Given the description of an element on the screen output the (x, y) to click on. 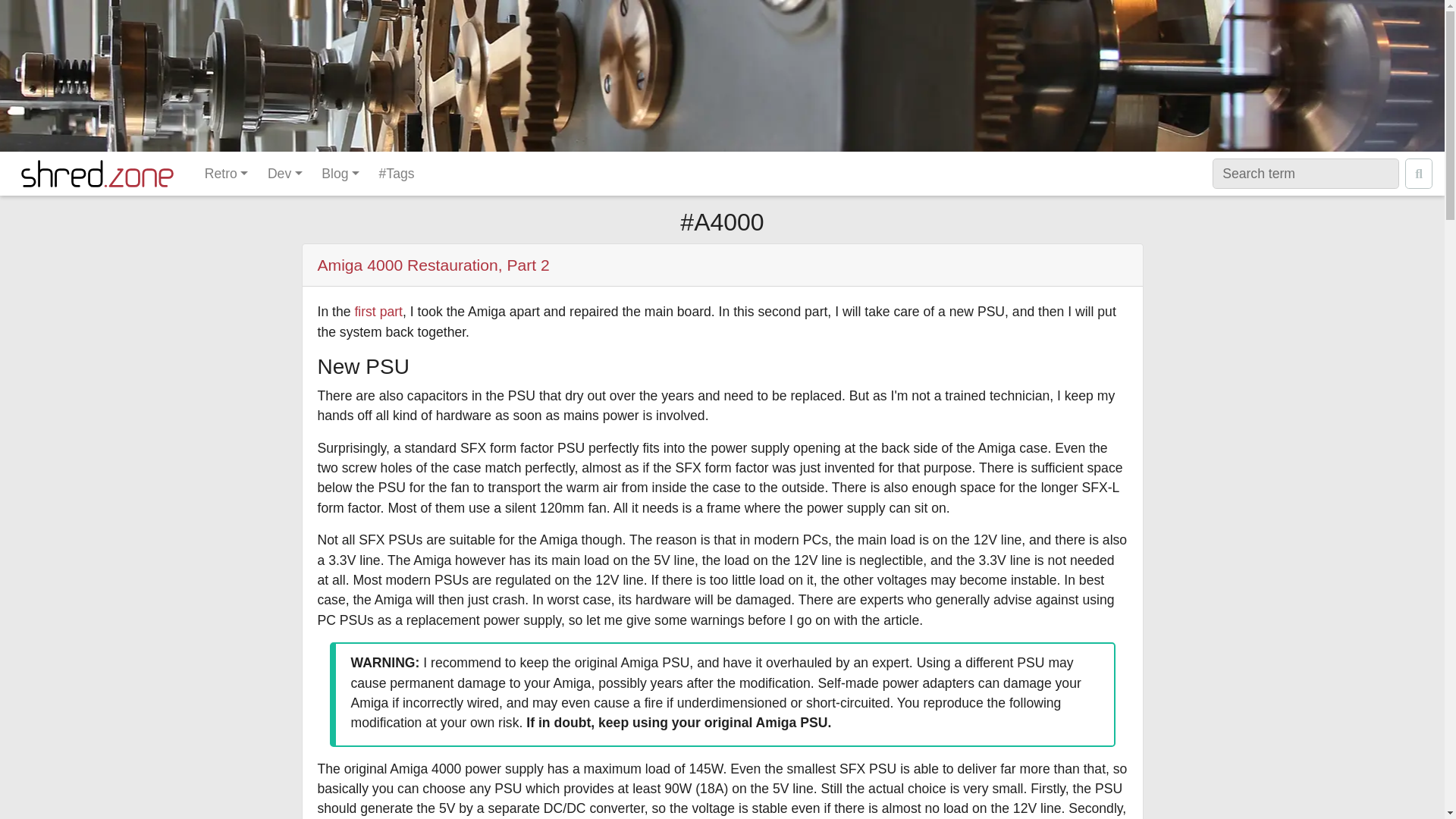
Retro (226, 173)
Blog (339, 173)
Dev (284, 173)
Amiga 4000 Restauration, Part 2 (432, 264)
first part (378, 311)
Amiga 4000 Restauration, Part 2 (432, 264)
